Given the description of an element on the screen output the (x, y) to click on. 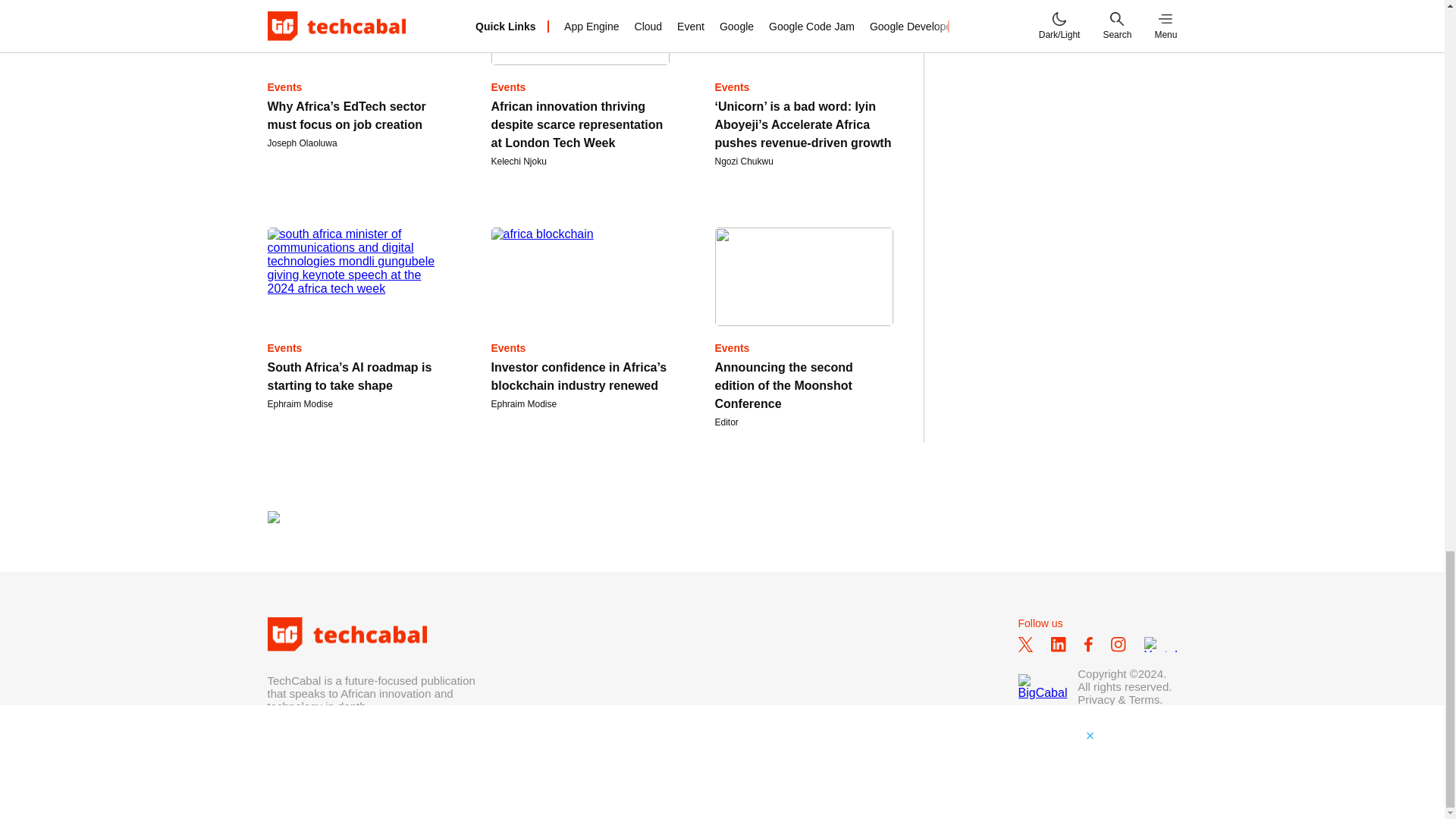
Posts by Kelechi Njoku (519, 161)
Posts by Ephraim Modise (524, 403)
Posts by Ngozi Chukwu (743, 161)
Posts by Ephraim Modise (299, 403)
Posts by Joseph Olaoluwa (301, 143)
Posts by Editor (726, 421)
